Given the description of an element on the screen output the (x, y) to click on. 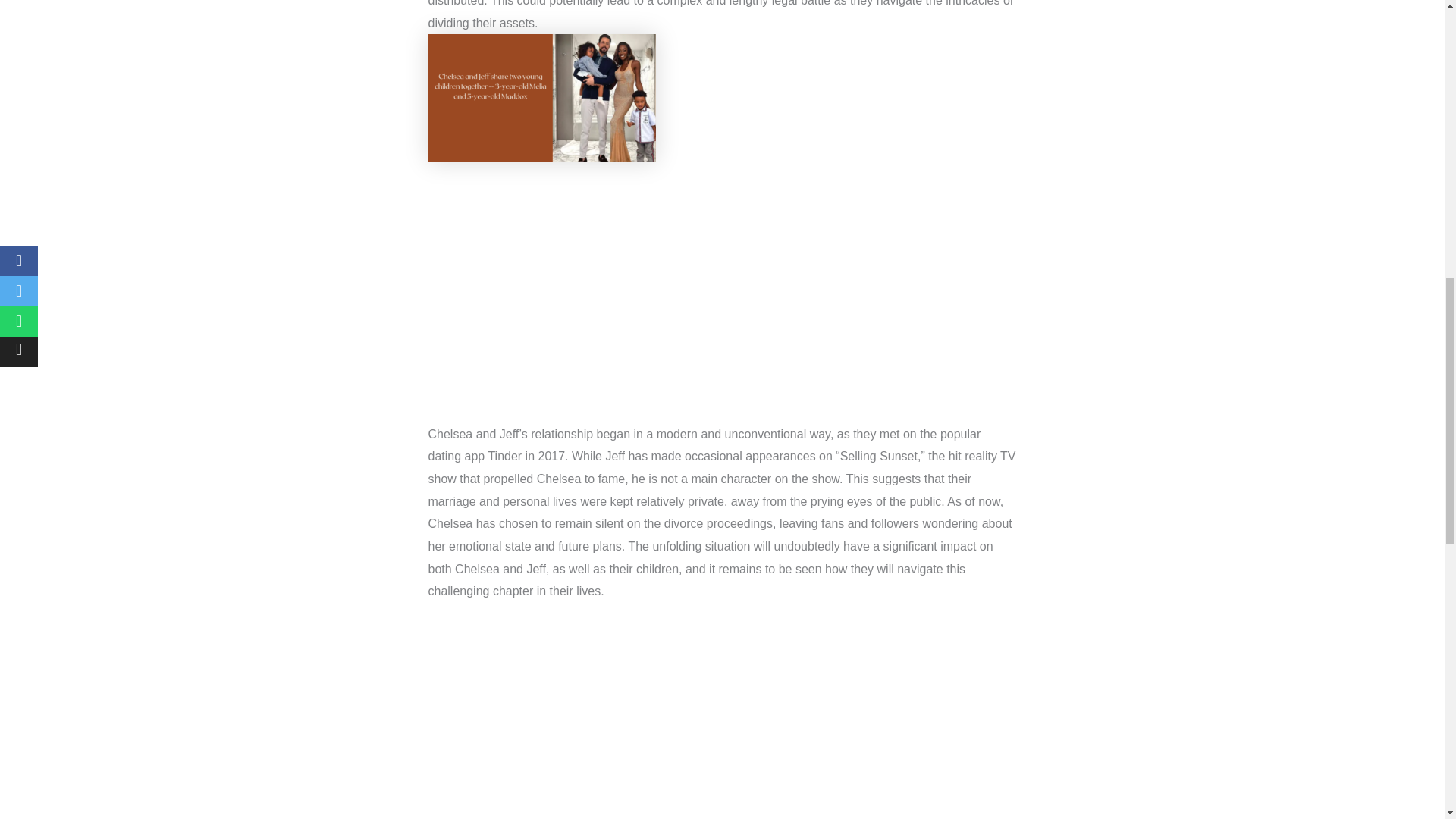
Advertisement (722, 720)
Advertisement (722, 287)
